Given the description of an element on the screen output the (x, y) to click on. 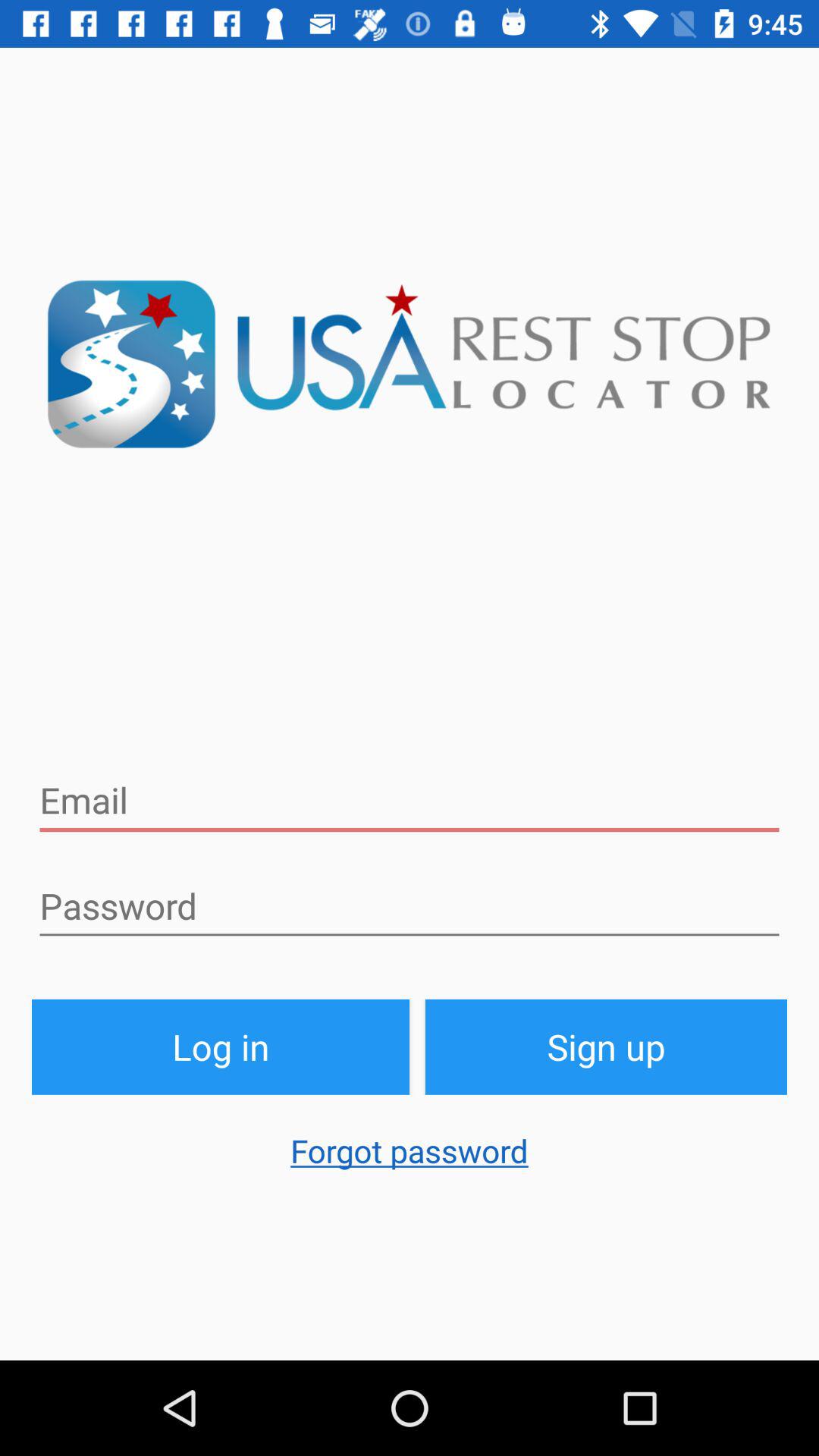
press item at the bottom right corner (606, 1046)
